Given the description of an element on the screen output the (x, y) to click on. 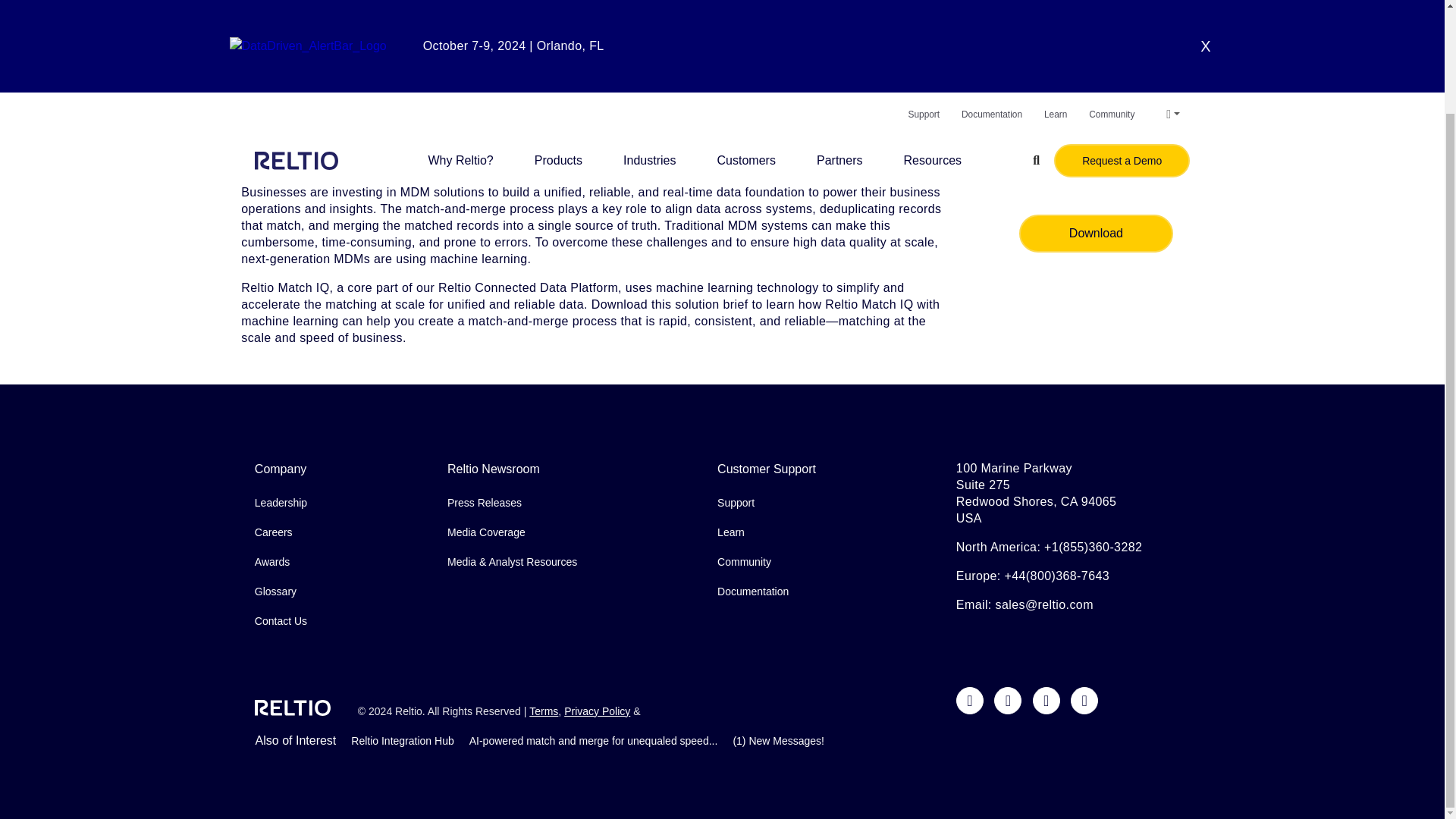
Why Reltio? (460, 39)
Products (558, 39)
Choose a language (1172, 3)
Industries (649, 39)
